Given the description of an element on the screen output the (x, y) to click on. 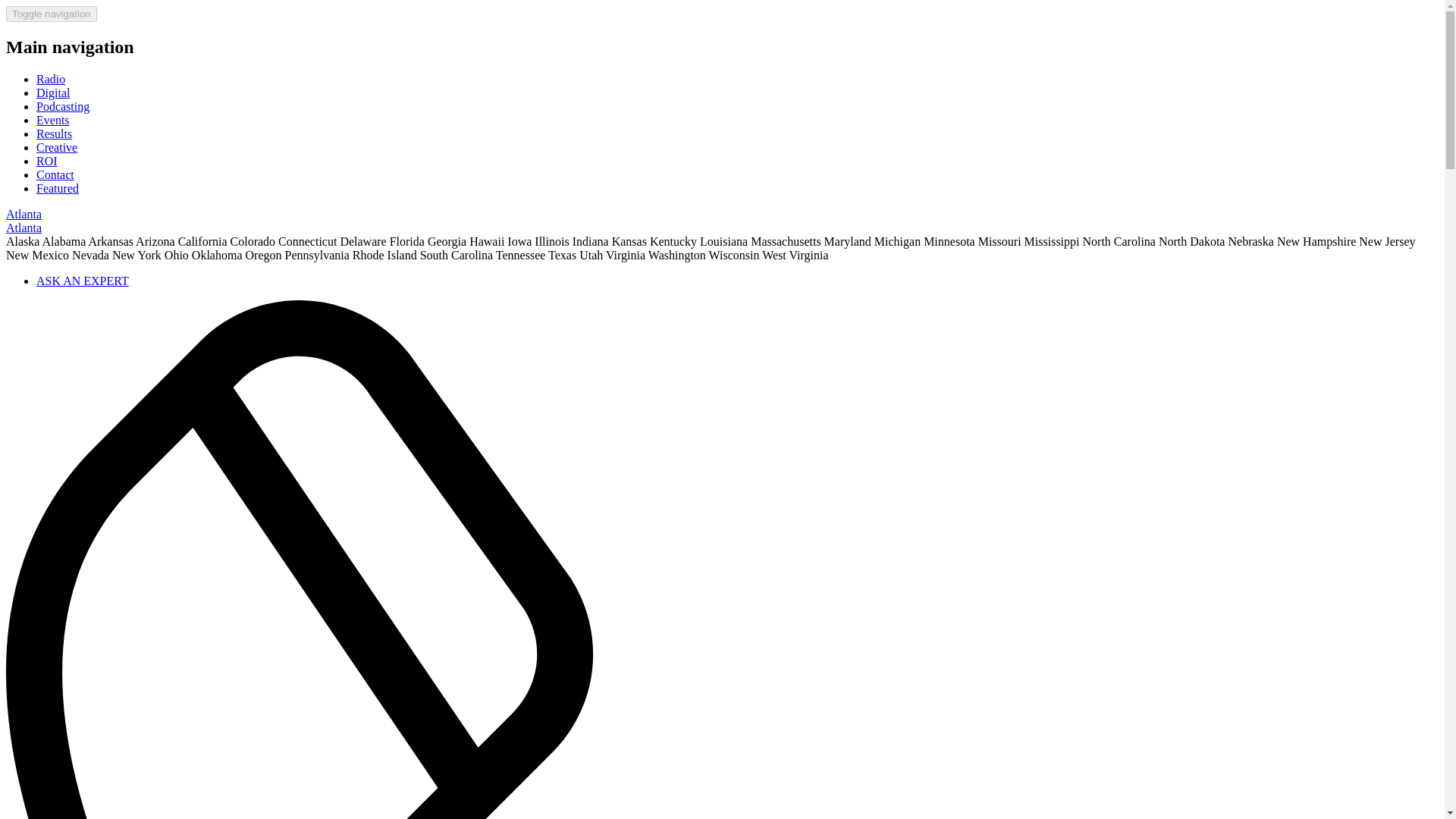
Events (52, 119)
Atlanta (23, 214)
Kansas (628, 241)
Delaware (362, 241)
Connecticut (307, 241)
Digital (52, 92)
Indiana (590, 241)
Arkansas (110, 241)
Minnesota (949, 241)
Georgia (446, 241)
California (202, 241)
Podcasting (62, 106)
Radio (50, 78)
Toggle navigation (51, 13)
Mississippi (1052, 241)
